Given the description of an element on the screen output the (x, y) to click on. 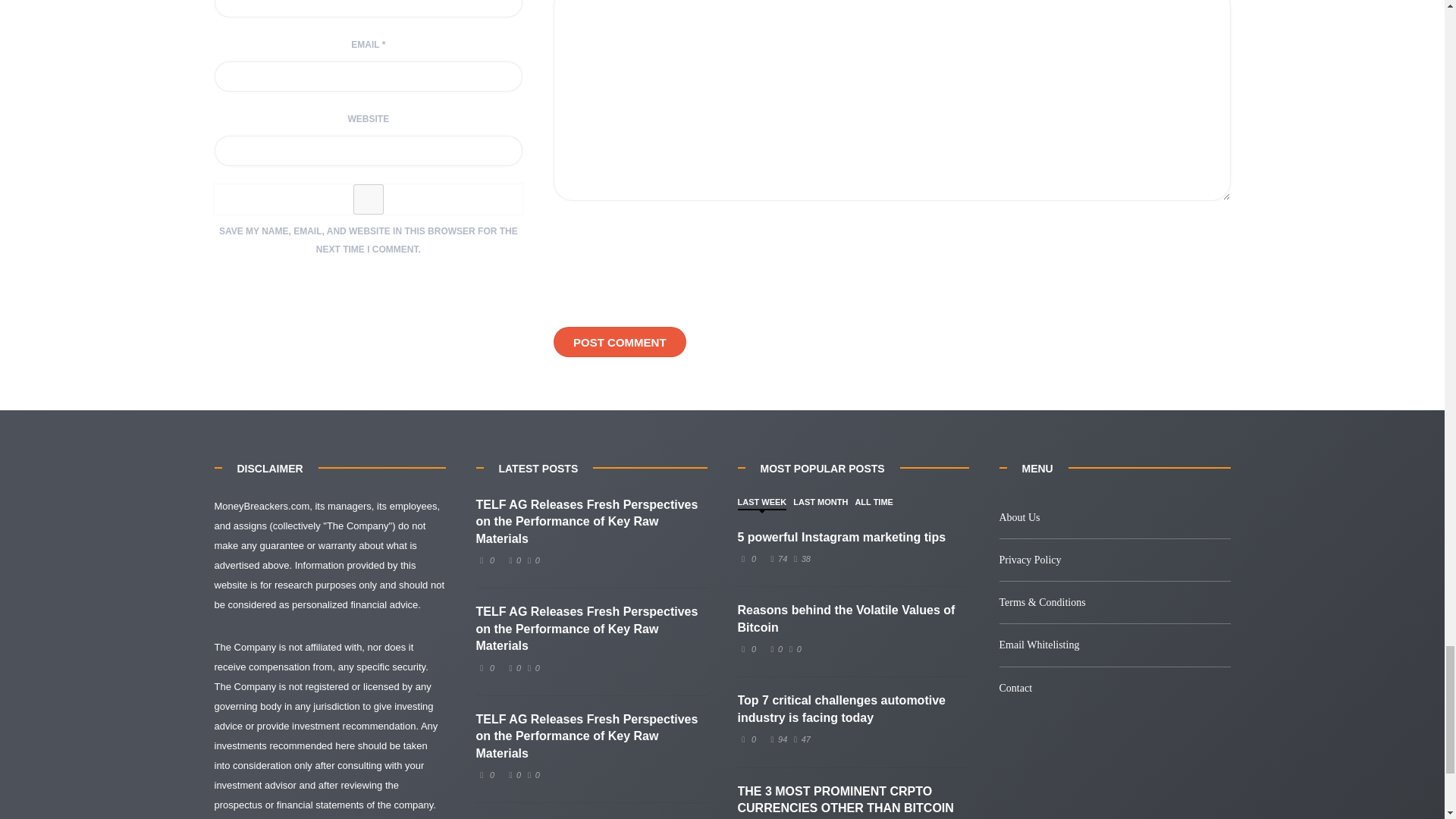
yes (368, 199)
I like this (513, 667)
I dislike this (799, 558)
I dislike this (531, 667)
I like this (777, 738)
I dislike this (799, 738)
I like this (775, 648)
I dislike this (531, 774)
I like this (513, 774)
I dislike this (531, 560)
I like this (513, 560)
I dislike this (793, 648)
I like this (777, 558)
Post Comment (619, 341)
